Given the description of an element on the screen output the (x, y) to click on. 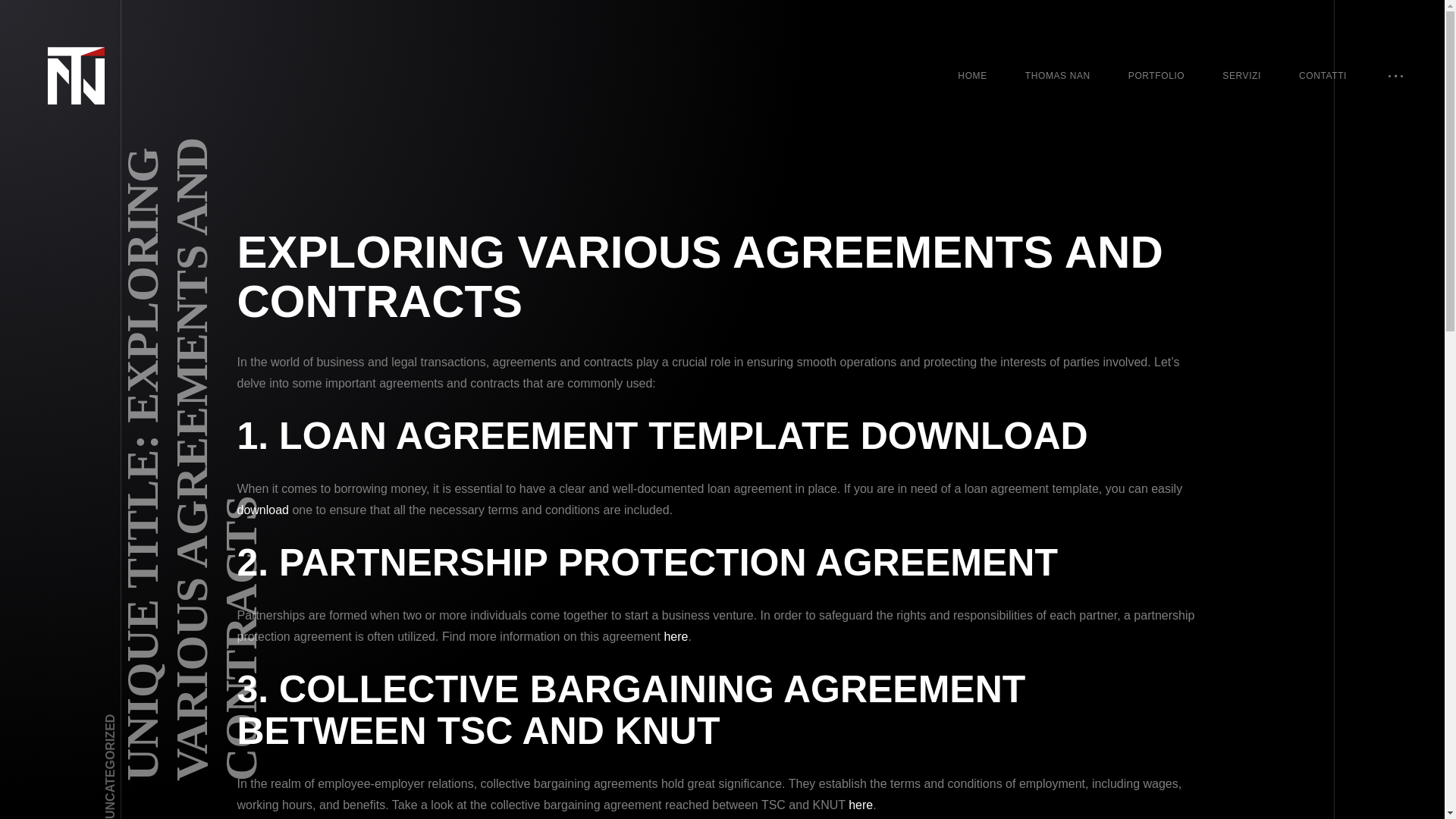
CONTATTI (1322, 75)
download (261, 509)
here (675, 635)
HOME (972, 75)
UNCATEGORIZED (155, 720)
here (860, 804)
THOMAS NAN (1057, 75)
PORTFOLIO (1156, 75)
SERVIZI (1241, 75)
